Given the description of an element on the screen output the (x, y) to click on. 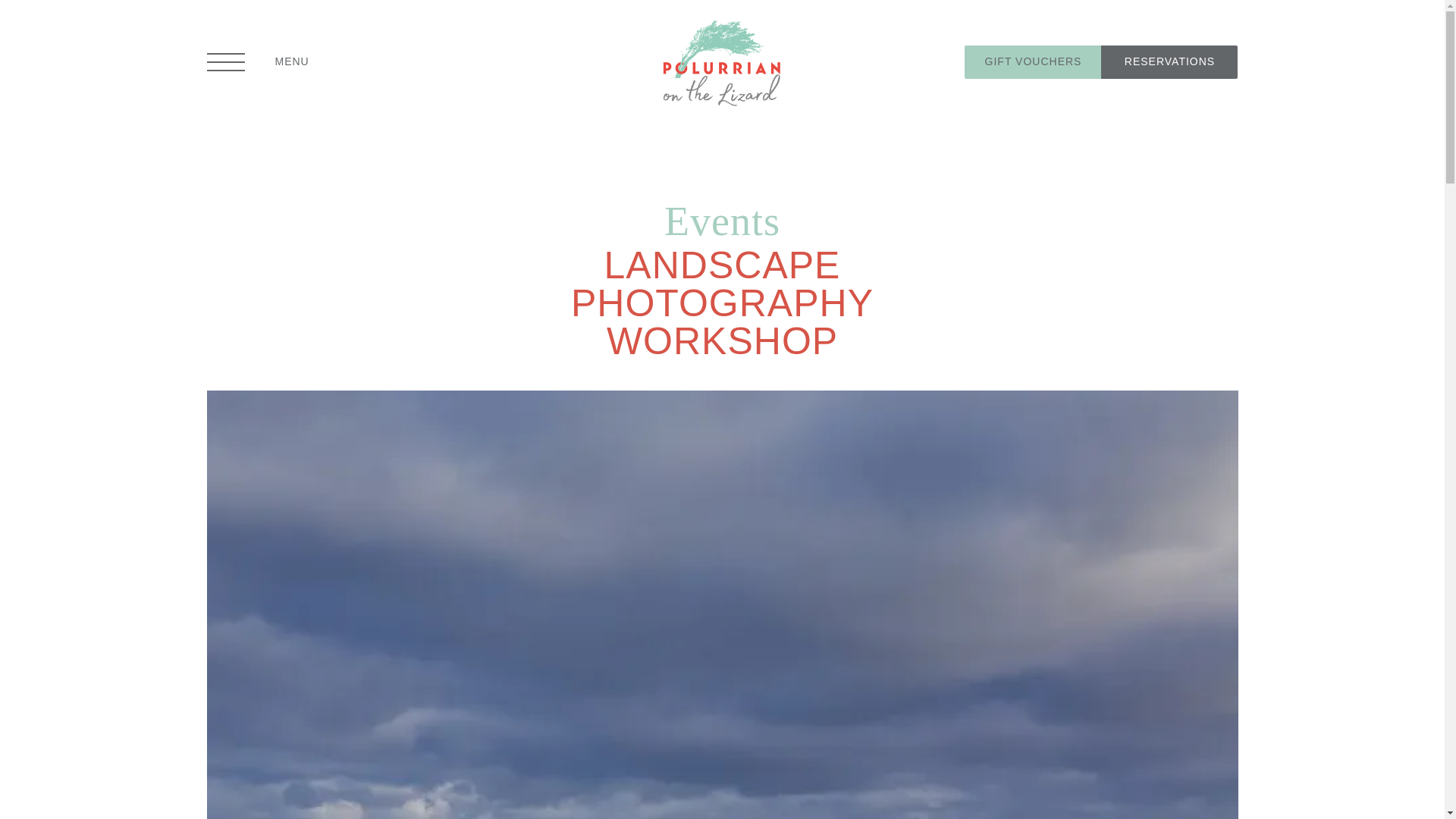
MENU (257, 62)
GIFT VOUCHERS (1031, 61)
RESERVATIONS (1168, 61)
